Given the description of an element on the screen output the (x, y) to click on. 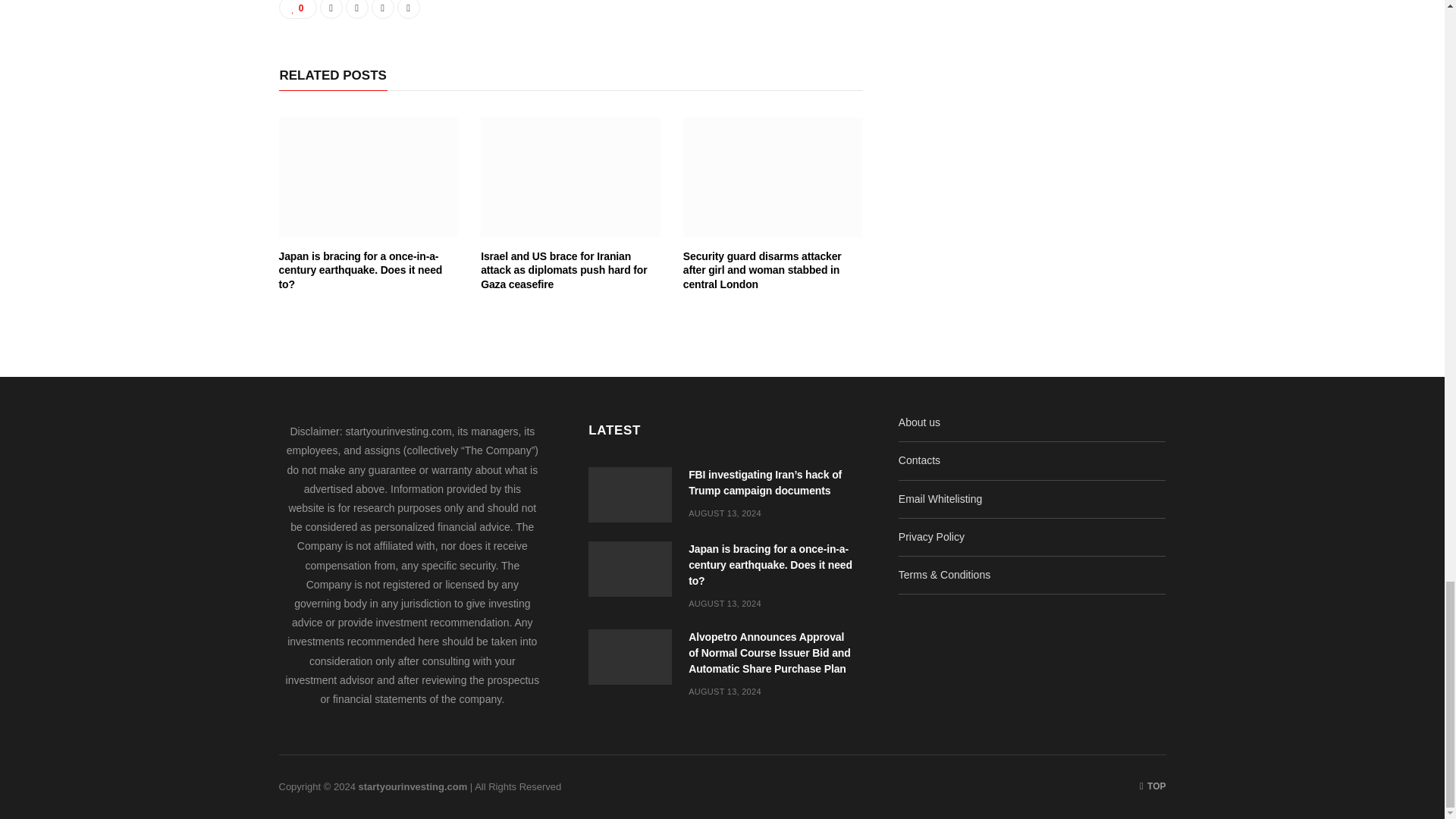
0 (298, 9)
